Given the description of an element on the screen output the (x, y) to click on. 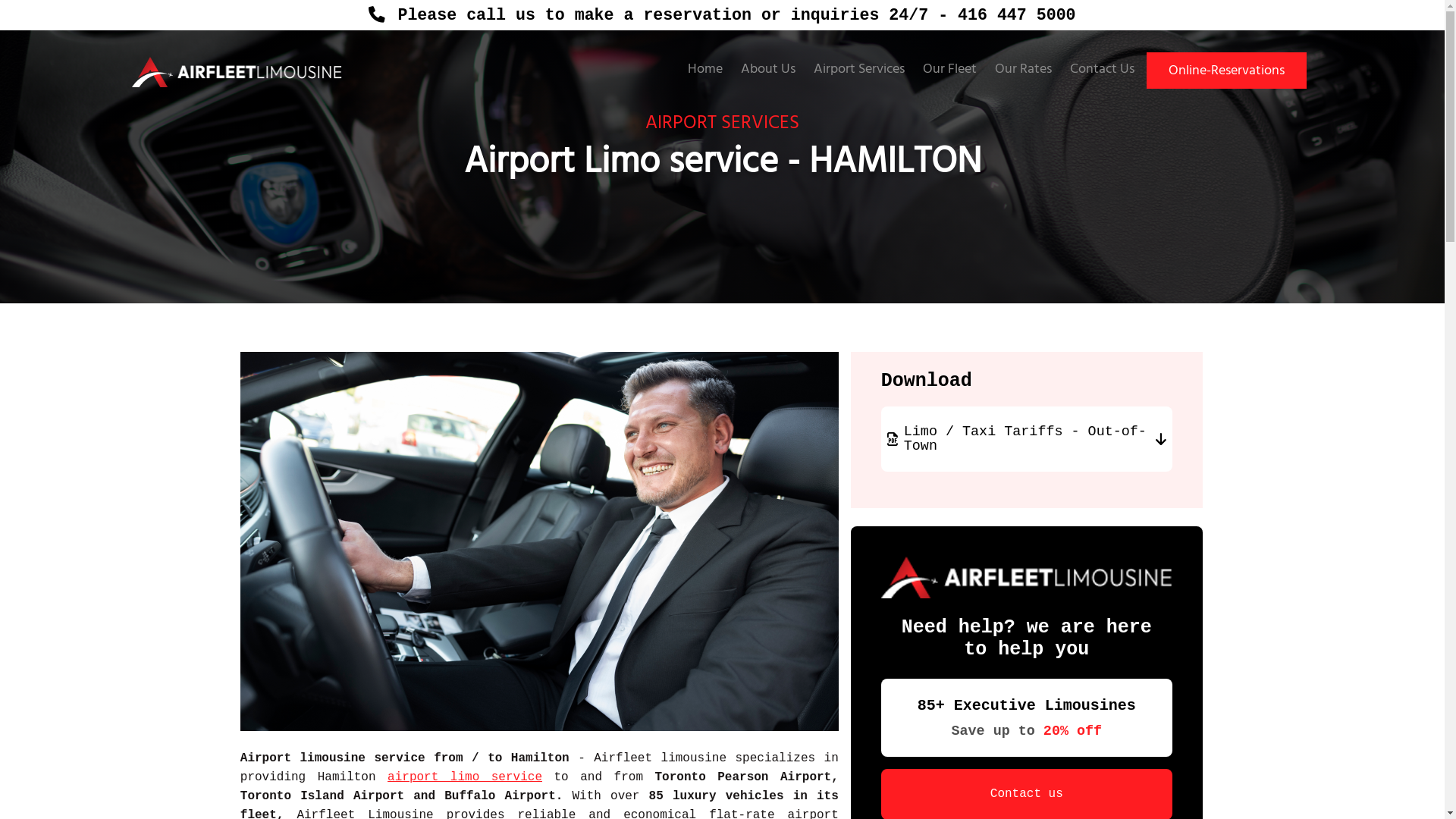
Online-Reservations Element type: text (1226, 70)
Home Element type: text (704, 69)
Limo / Taxi Tariffs - Out-of-Town Element type: text (1026, 438)
About Us Element type: text (767, 69)
Our Fleet Element type: text (949, 69)
airport limo service Element type: text (464, 777)
Our Rates Element type: text (1022, 69)
Airport Services Element type: text (858, 69)
Contact Us Element type: text (1101, 69)
